Given the description of an element on the screen output the (x, y) to click on. 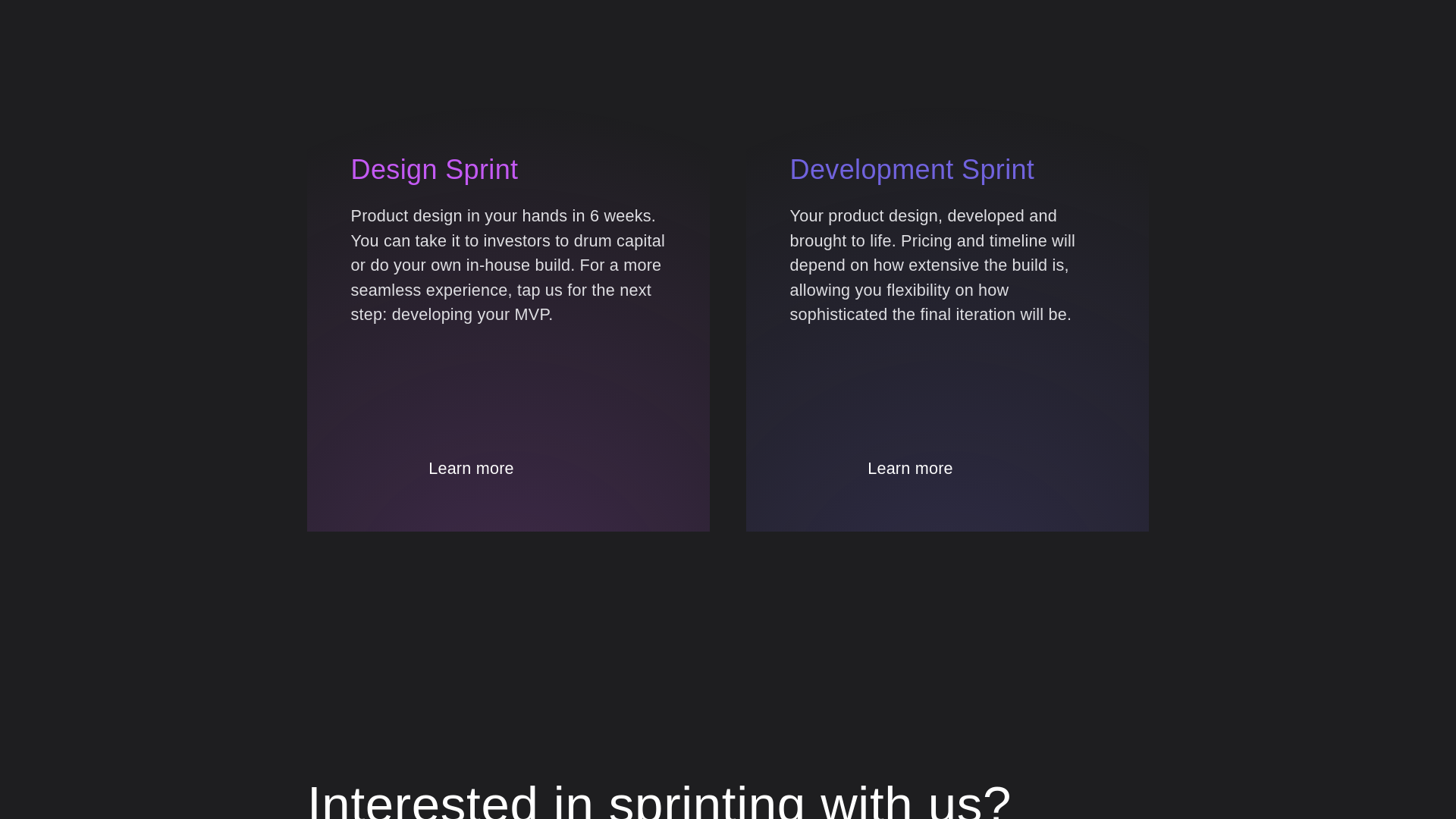
Learn more (508, 468)
Learn more (871, 468)
